Given the description of an element on the screen output the (x, y) to click on. 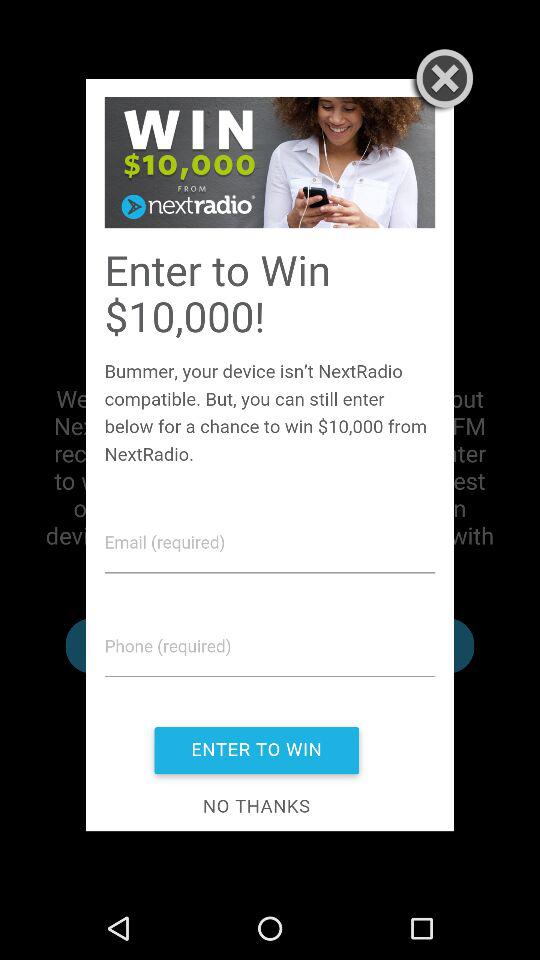
close (440, 81)
